Given the description of an element on the screen output the (x, y) to click on. 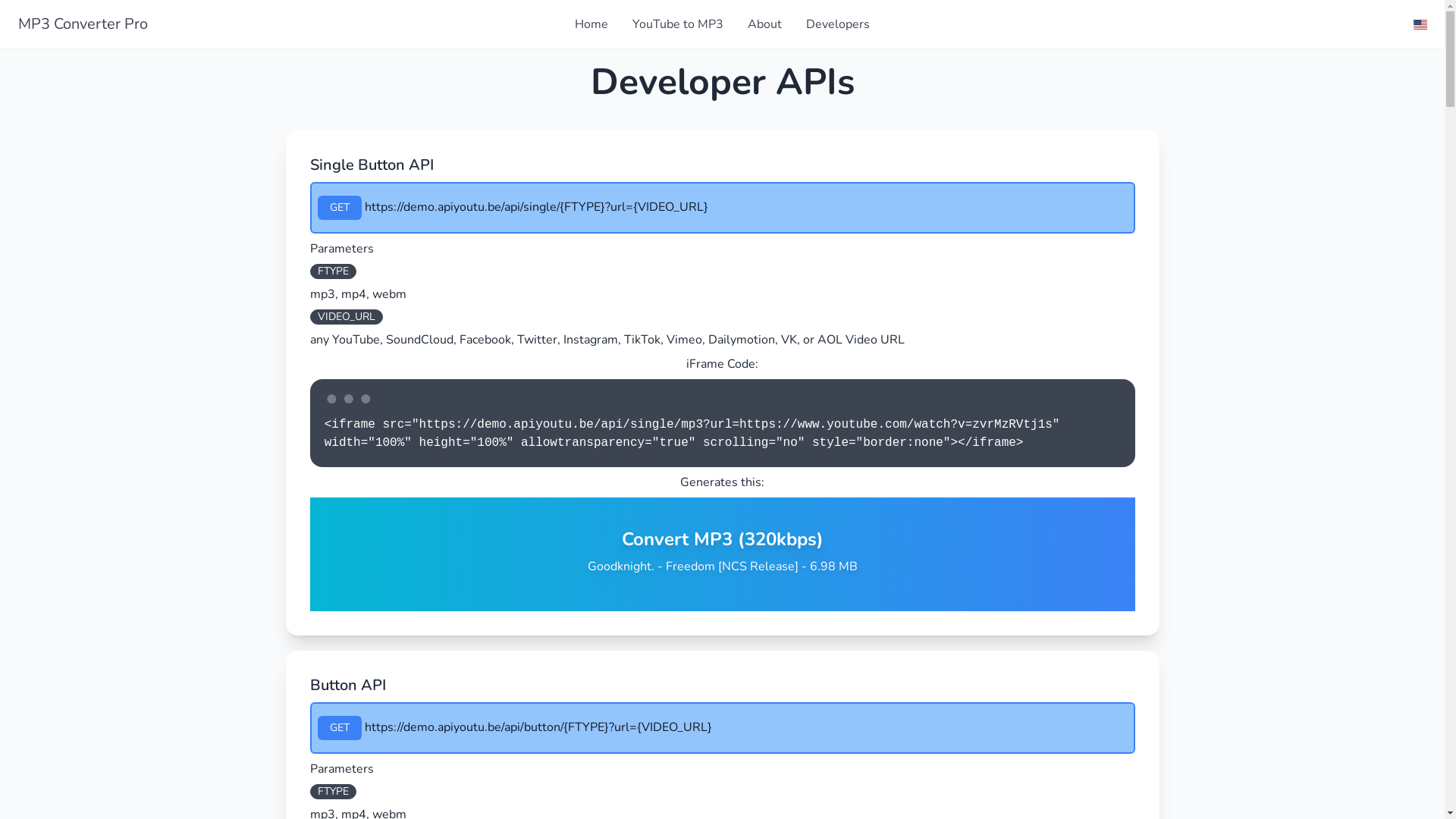
YouTube to MP3 Element type: text (677, 24)
About Element type: text (764, 24)
Home Element type: text (591, 24)
Developers Element type: text (837, 24)
MP3 Converter Pro Element type: text (284, 23)
